Given the description of an element on the screen output the (x, y) to click on. 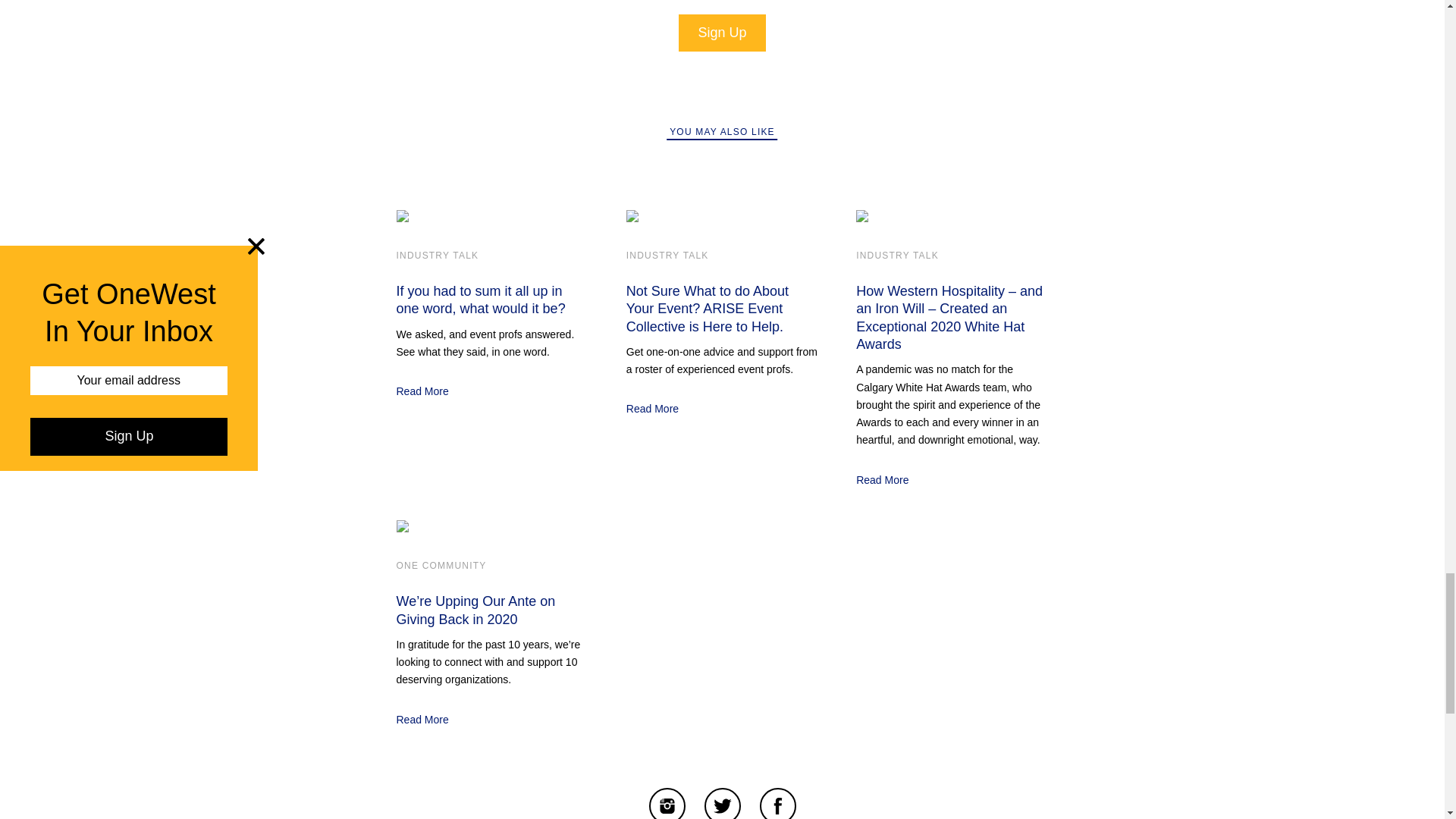
Sign Up (721, 33)
Read More (652, 408)
If you had to sum it all up in one word, what would it be? (480, 299)
Read More (422, 390)
Read More (882, 479)
